Given the description of an element on the screen output the (x, y) to click on. 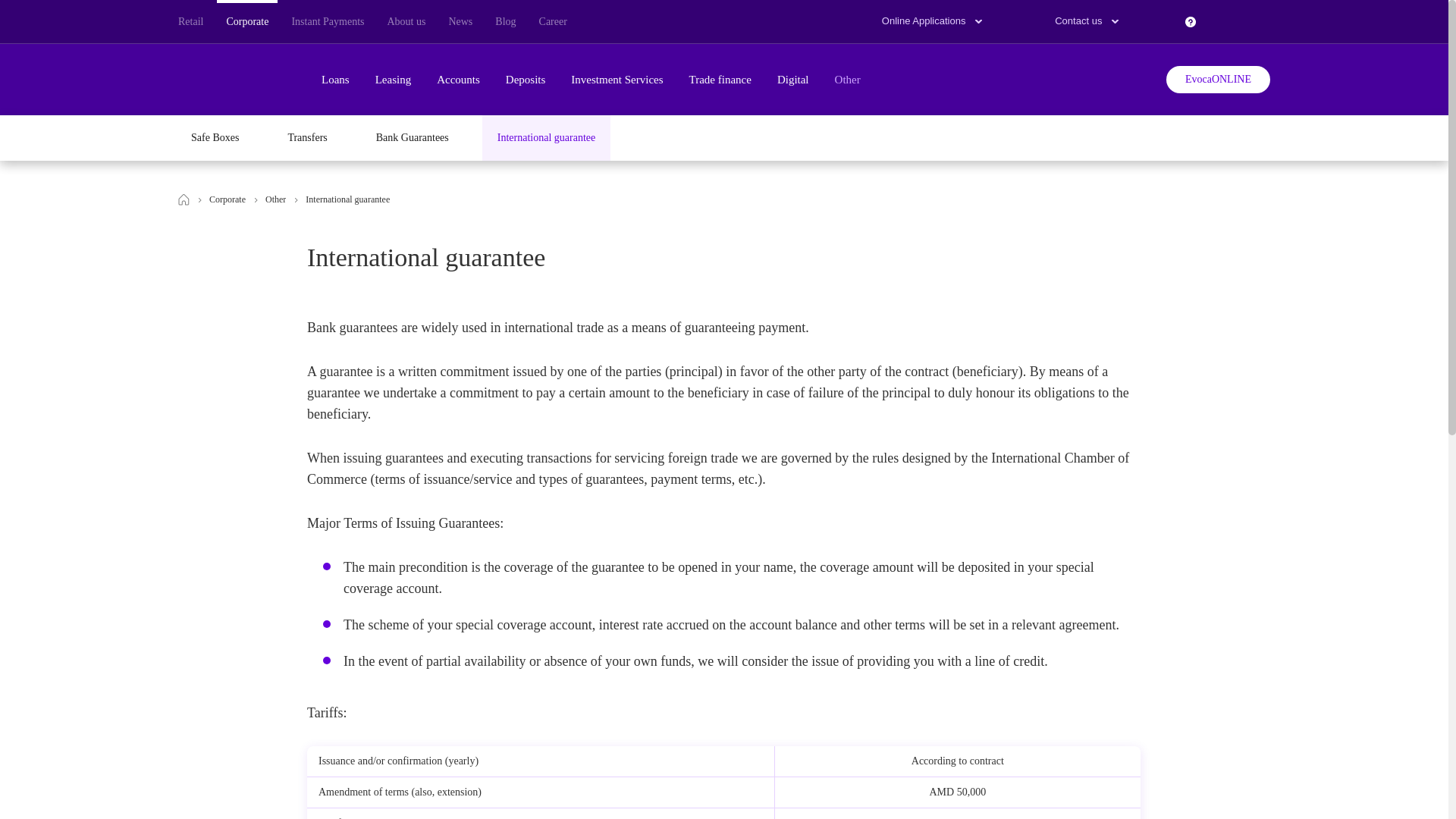
Corporate (246, 21)
Investment Services (616, 79)
Online Applications (927, 21)
International guarantee (353, 203)
Trade finance (719, 79)
Retail (190, 21)
Other (847, 79)
Career (552, 21)
News (459, 21)
Instant Payments (327, 21)
